Given the description of an element on the screen output the (x, y) to click on. 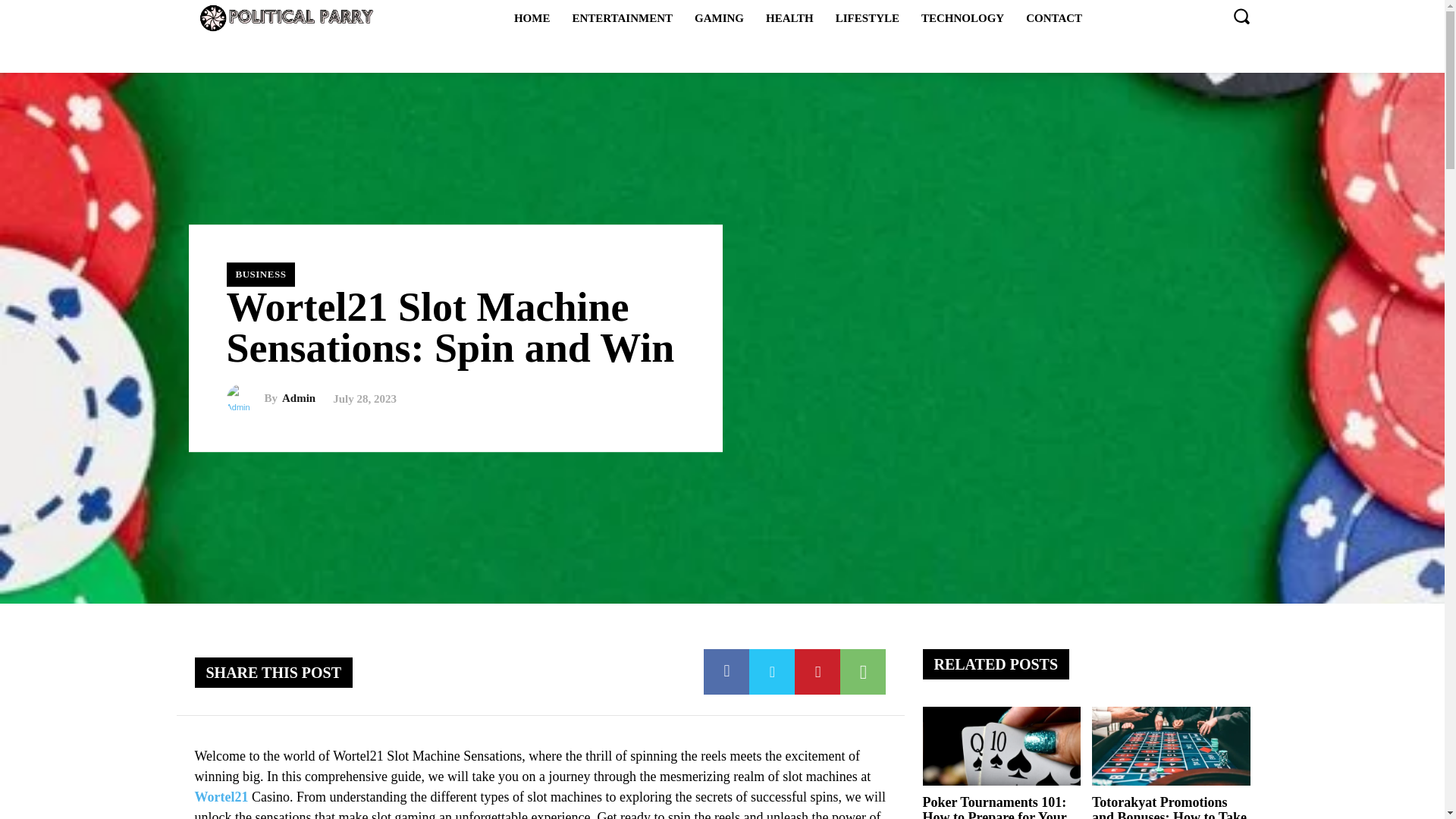
Totorakyat Promotions and Bonuses: How to Take Advantage (1171, 745)
BUSINESS (260, 274)
Facebook (726, 671)
Admin (244, 399)
HEALTH (789, 17)
Twitter (771, 671)
CONTACT (1053, 17)
TECHNOLOGY (962, 17)
WhatsApp (862, 671)
HOME (532, 17)
